Given the description of an element on the screen output the (x, y) to click on. 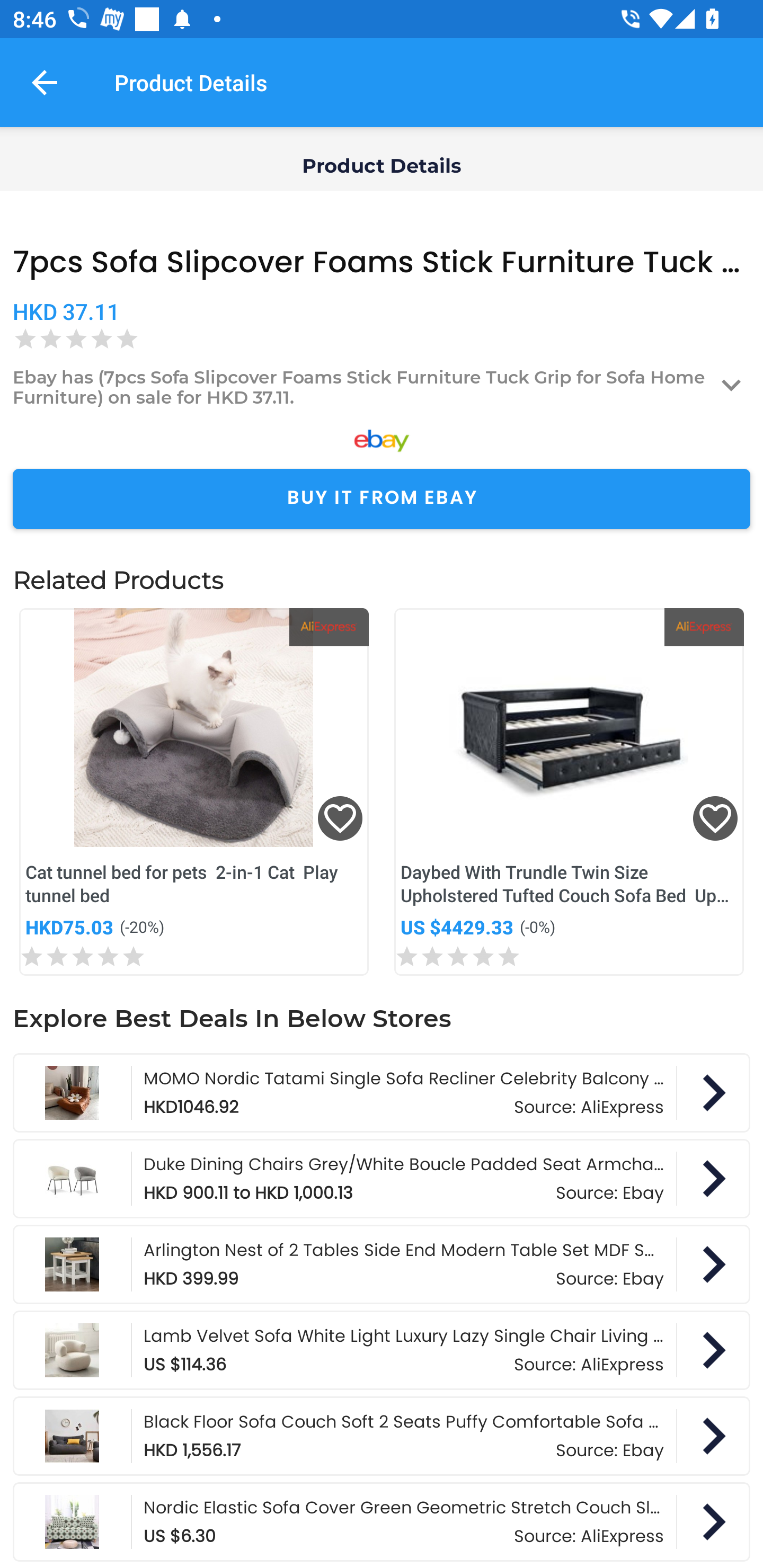
Navigate up (44, 82)
BUY IT FROM EBAY (381, 499)
